Given the description of an element on the screen output the (x, y) to click on. 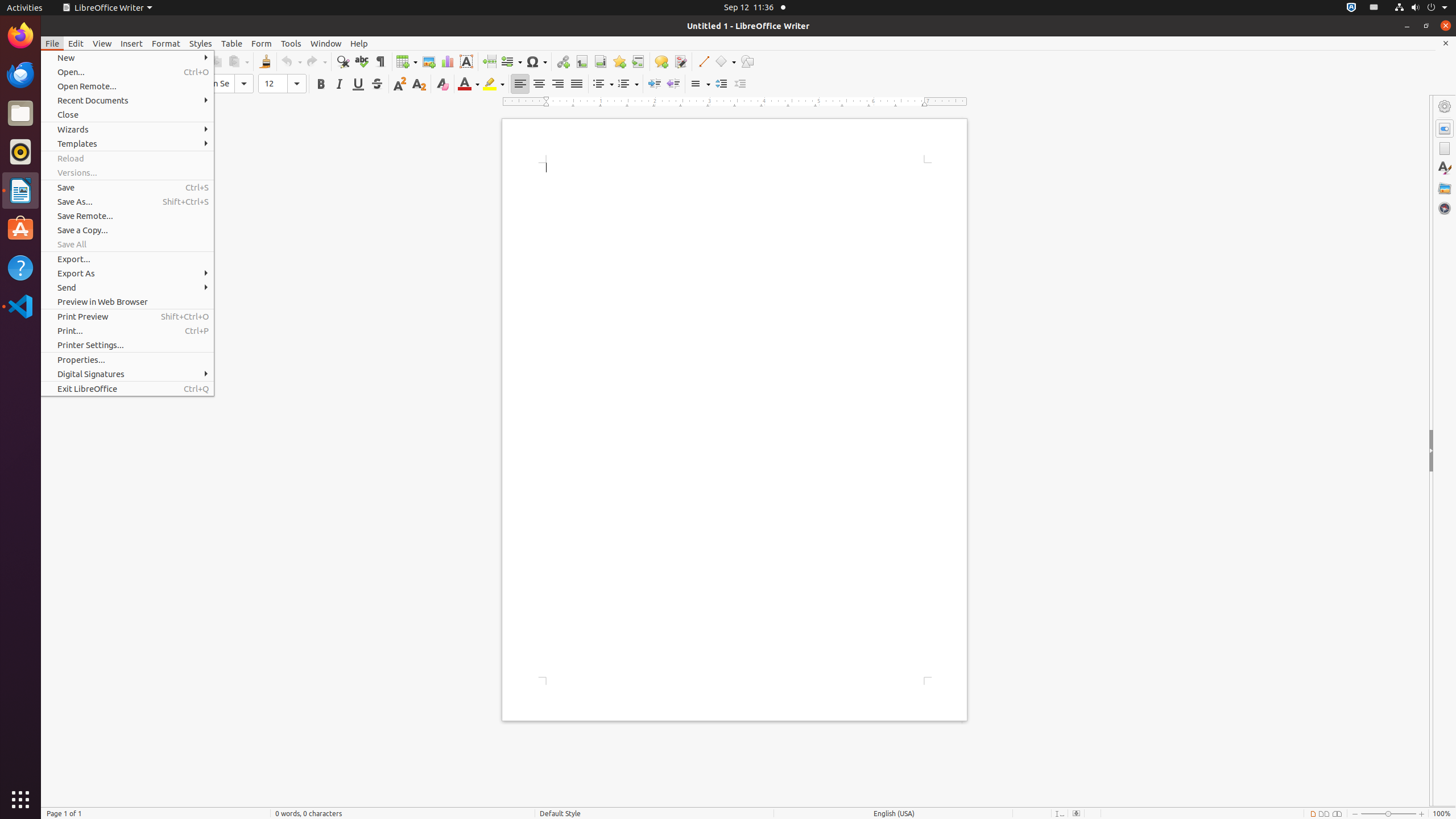
Form Element type: menu (261, 43)
Preview in Web Browser Element type: menu-item (126, 301)
Page Element type: radio-button (1444, 148)
Text Box Element type: push-button (465, 61)
Format Element type: menu (165, 43)
